Given the description of an element on the screen output the (x, y) to click on. 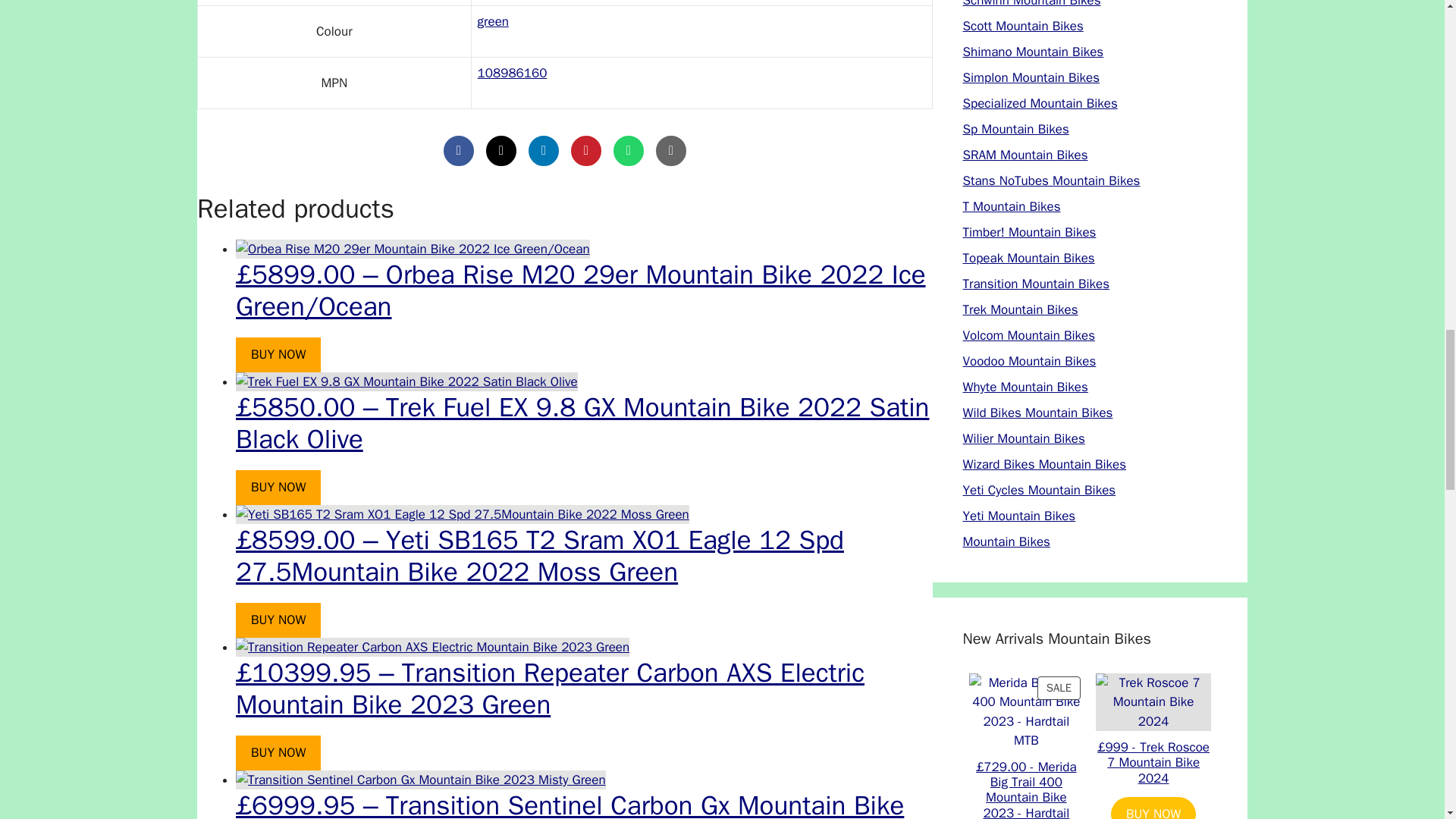
green (492, 21)
BUY NOW (277, 354)
BUY NOW (277, 487)
108986160 (512, 73)
